Given the description of an element on the screen output the (x, y) to click on. 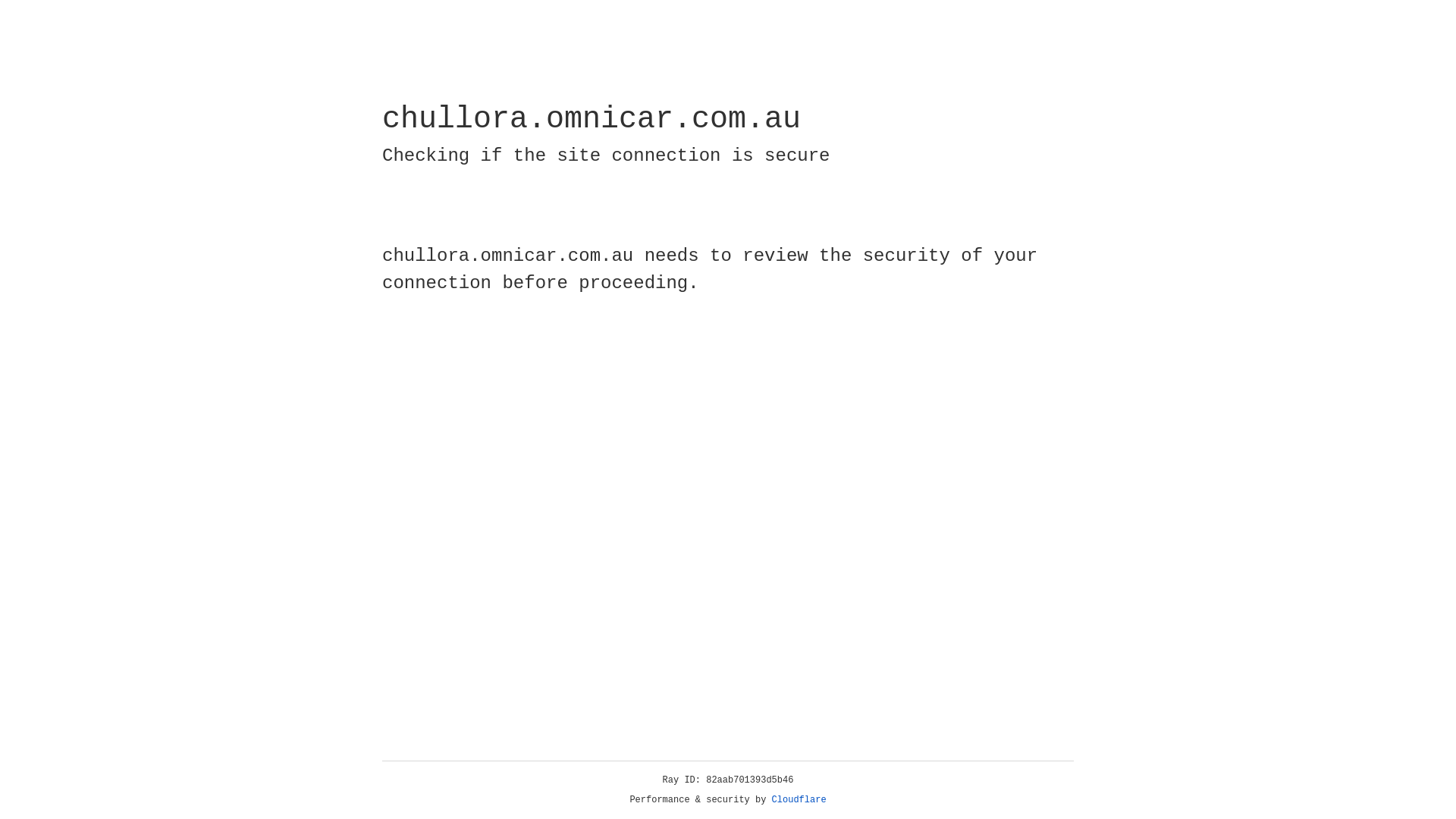
Cloudflare Element type: text (798, 799)
